Given the description of an element on the screen output the (x, y) to click on. 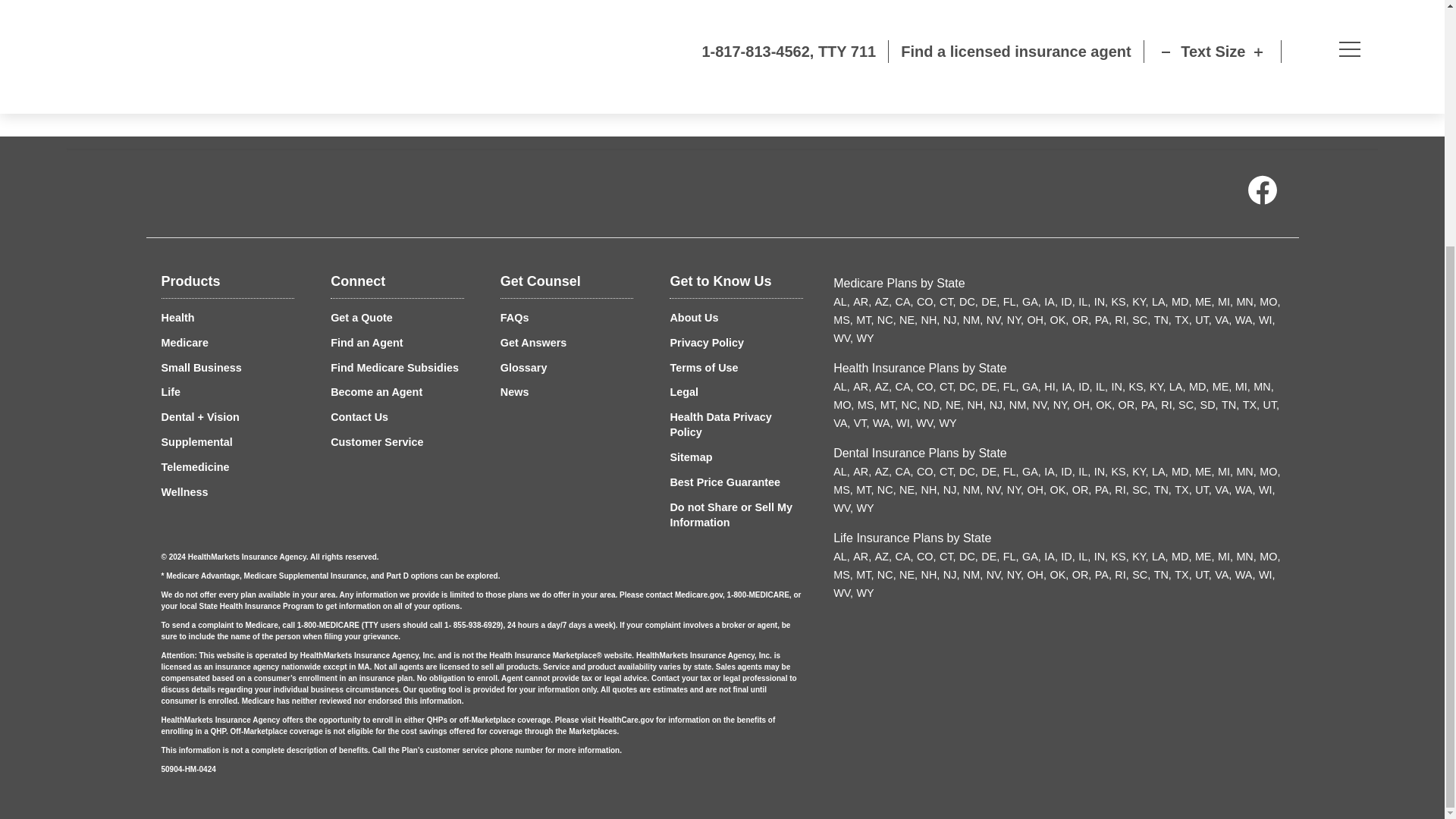
Facebook (1261, 192)
Medicare Insurance Plans in Georgia (1031, 301)
Medicare Insurance Plans in Connecticut (947, 301)
Medicare Insurance Plans in Illinois (1084, 301)
Medicare Insurance Plans in Idaho (1067, 301)
References (326, 50)
Medicare Insurance Plans in Arizona (883, 301)
Medicare Insurance Plans in Colorado (926, 301)
Medicare Insurance Plans in Delaware (989, 301)
Medicare Insurance Plans in Kansas (1120, 301)
Small Business (200, 367)
Medicare Insurance Plans in Arkansas (861, 301)
Back to Glossary (330, 2)
Medicare Insurance Plans in California (904, 301)
Medicare Insurance Plans in Florida (1011, 301)
